Given the description of an element on the screen output the (x, y) to click on. 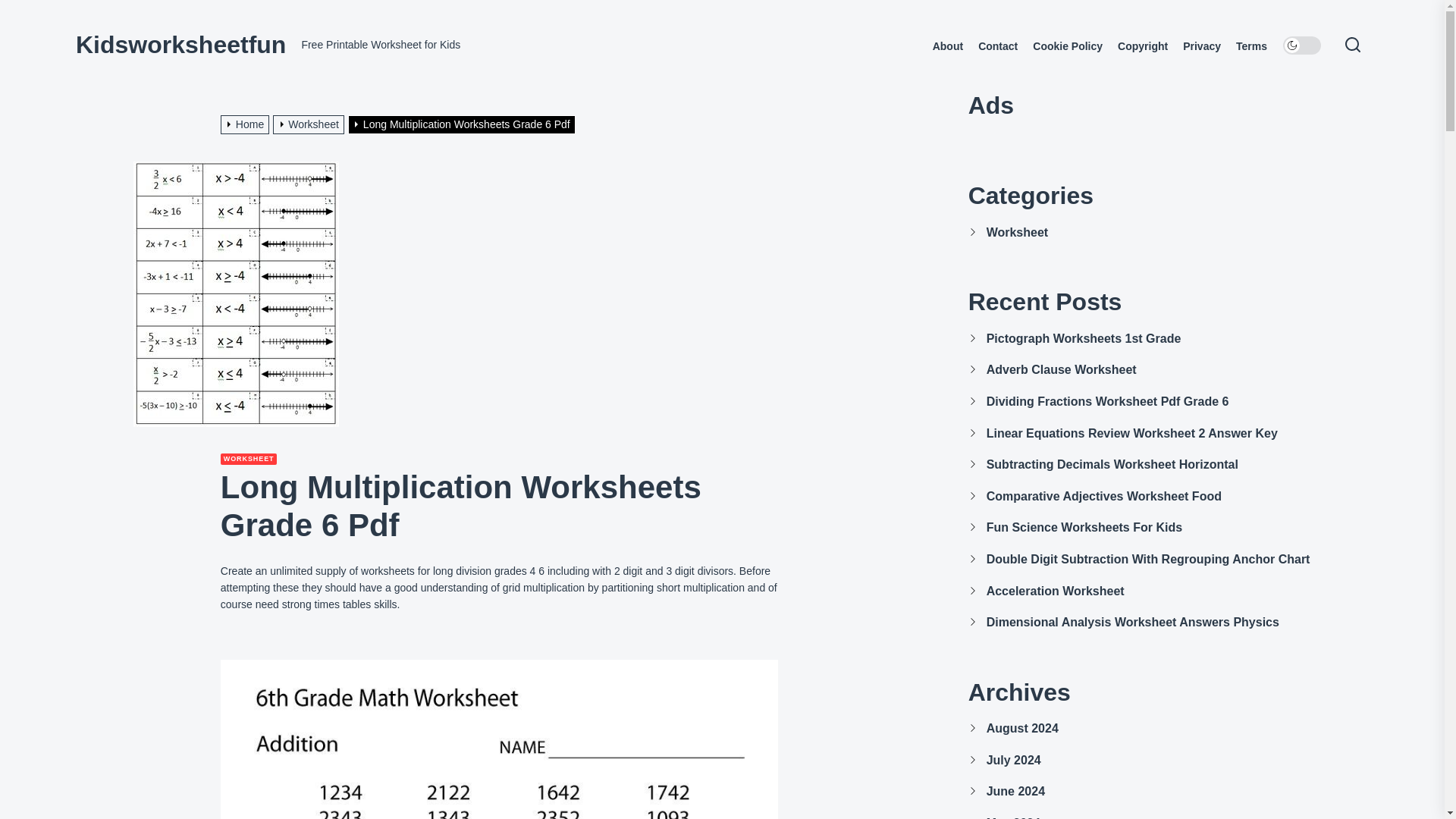
Worksheet (310, 123)
Terms (1251, 46)
Privacy (1201, 46)
Long Multiplication Worksheets Grade 6 Pdf (463, 123)
WORKSHEET (249, 459)
Copyright (1142, 46)
About (947, 46)
Kidsworksheetfun (180, 44)
Contact (997, 46)
Home (247, 123)
Cookie Policy (1067, 46)
